Given the description of an element on the screen output the (x, y) to click on. 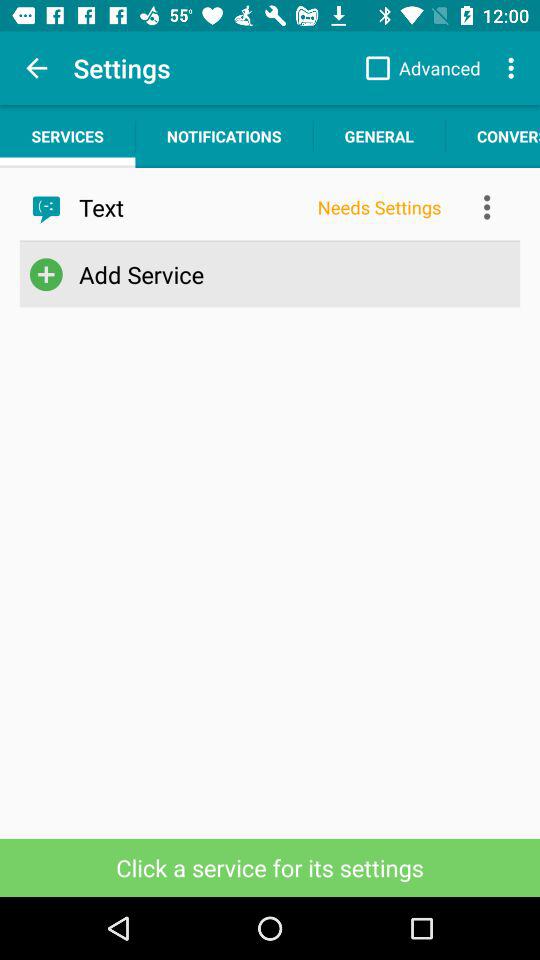
launch icon to the left of settings app (36, 68)
